Given the description of an element on the screen output the (x, y) to click on. 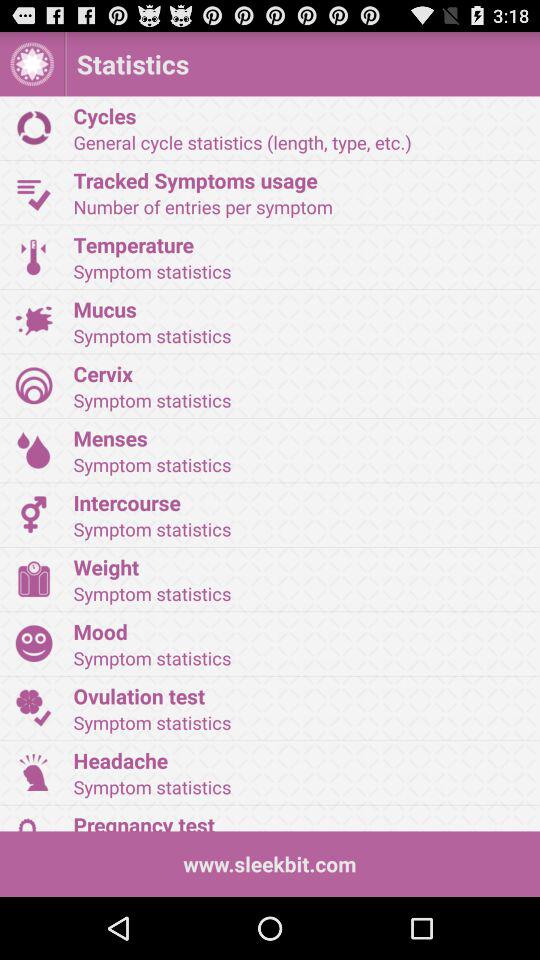
launch icon above symptom statistics icon (299, 760)
